Given the description of an element on the screen output the (x, y) to click on. 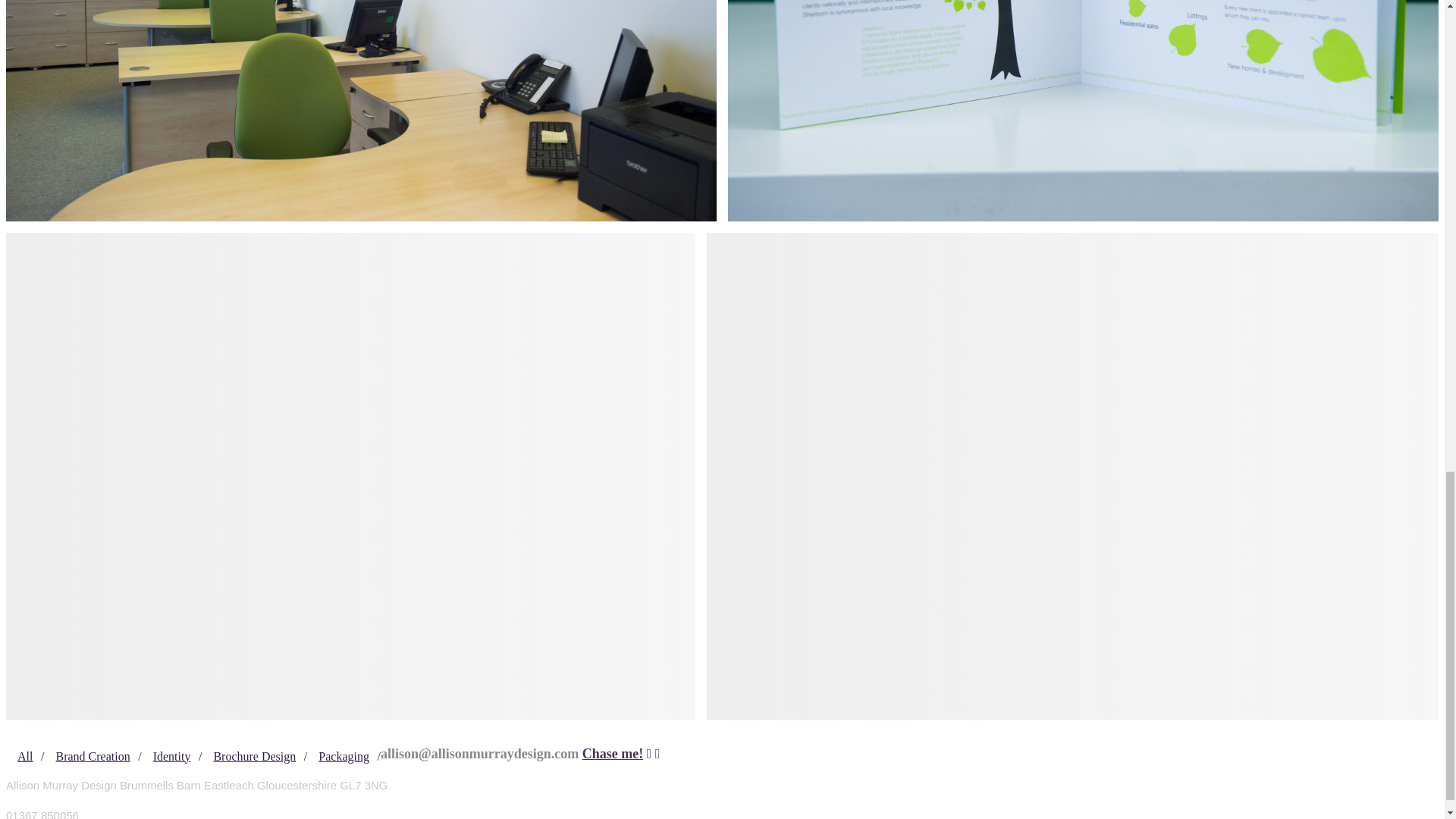
Chase me! (612, 753)
Brochure Design (254, 755)
Packaging (343, 755)
Identity (171, 755)
Brand Creation (92, 755)
All (24, 755)
